Given the description of an element on the screen output the (x, y) to click on. 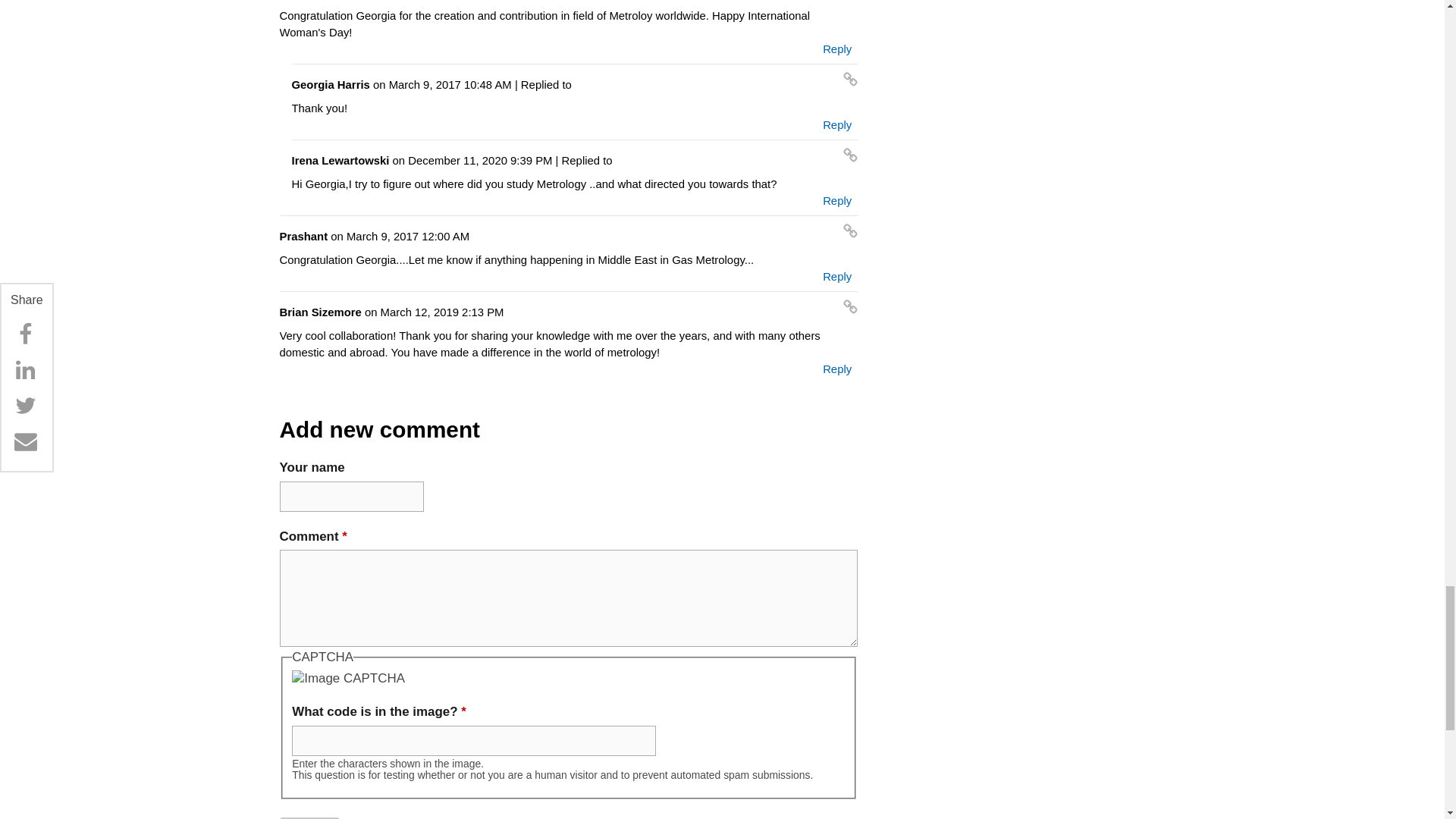
Save (309, 818)
Image CAPTCHA (348, 678)
